Given the description of an element on the screen output the (x, y) to click on. 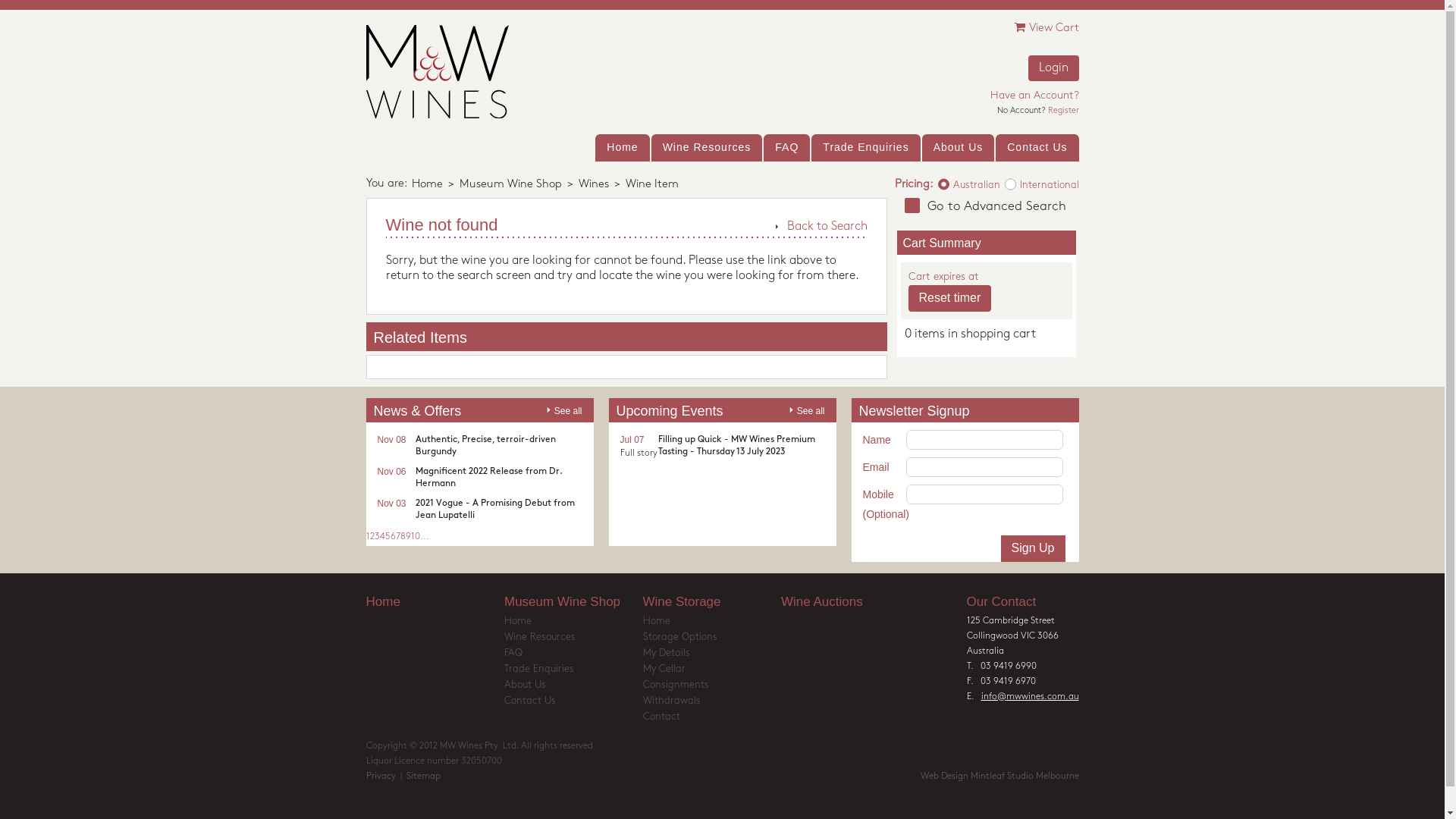
Sitemap Element type: text (423, 776)
Back to Search Element type: text (820, 226)
Home Element type: text (622, 147)
4 Element type: text (381, 536)
Home Element type: text (434, 602)
See all Element type: text (807, 409)
See all Element type: text (564, 409)
2 Element type: text (372, 536)
5 Element type: text (387, 536)
... Element type: text (424, 536)
Register Element type: text (1063, 110)
Full story Element type: text (638, 453)
Wine Storage Element type: text (712, 602)
Contact Element type: text (712, 717)
FAQ Element type: text (573, 654)
Login Element type: text (1053, 68)
About Us Element type: text (958, 147)
Go to Advanced Search Element type: text (987, 206)
10 Element type: text (415, 536)
Contact Us Element type: text (573, 701)
7 Element type: text (397, 536)
My Details Element type: text (712, 654)
Privacy Element type: text (380, 776)
3 Element type: text (376, 536)
View Cart Element type: text (1046, 28)
Museum Wine Shop Element type: text (510, 184)
1 Element type: text (367, 536)
Home Element type: text (426, 184)
Museum Wine Shop Element type: text (573, 602)
Home Element type: text (573, 622)
FAQ Element type: text (786, 147)
Consignments Element type: text (712, 685)
Magnificent 2022 Release from Dr. Hermann Element type: text (488, 477)
Web Design Mintleaf Studio Melbourne Element type: text (999, 776)
Wine Resources Element type: text (573, 638)
info@mwwines.com.au Element type: text (1030, 696)
Wine Resources Element type: text (706, 147)
6 Element type: text (392, 536)
My Cellar Element type: text (712, 669)
Sign Up Element type: text (1033, 548)
About Us Element type: text (573, 685)
Withdrawals Element type: text (712, 701)
8 Element type: text (402, 536)
Wines Element type: text (592, 184)
INT Element type: text (999, 176)
Home Element type: text (712, 622)
Authentic, Precise, terroir-driven Burgundy Element type: text (485, 445)
Wine Auctions Element type: text (850, 602)
Storage Options Element type: text (712, 638)
Contact Us Element type: text (1036, 147)
Reset timer Element type: text (949, 297)
2021 Vogue - A Promising Debut from Jean Lupatelli Element type: text (494, 509)
Trade Enquiries Element type: text (573, 669)
9 Element type: text (407, 536)
Trade Enquiries Element type: text (865, 147)
